Given the description of an element on the screen output the (x, y) to click on. 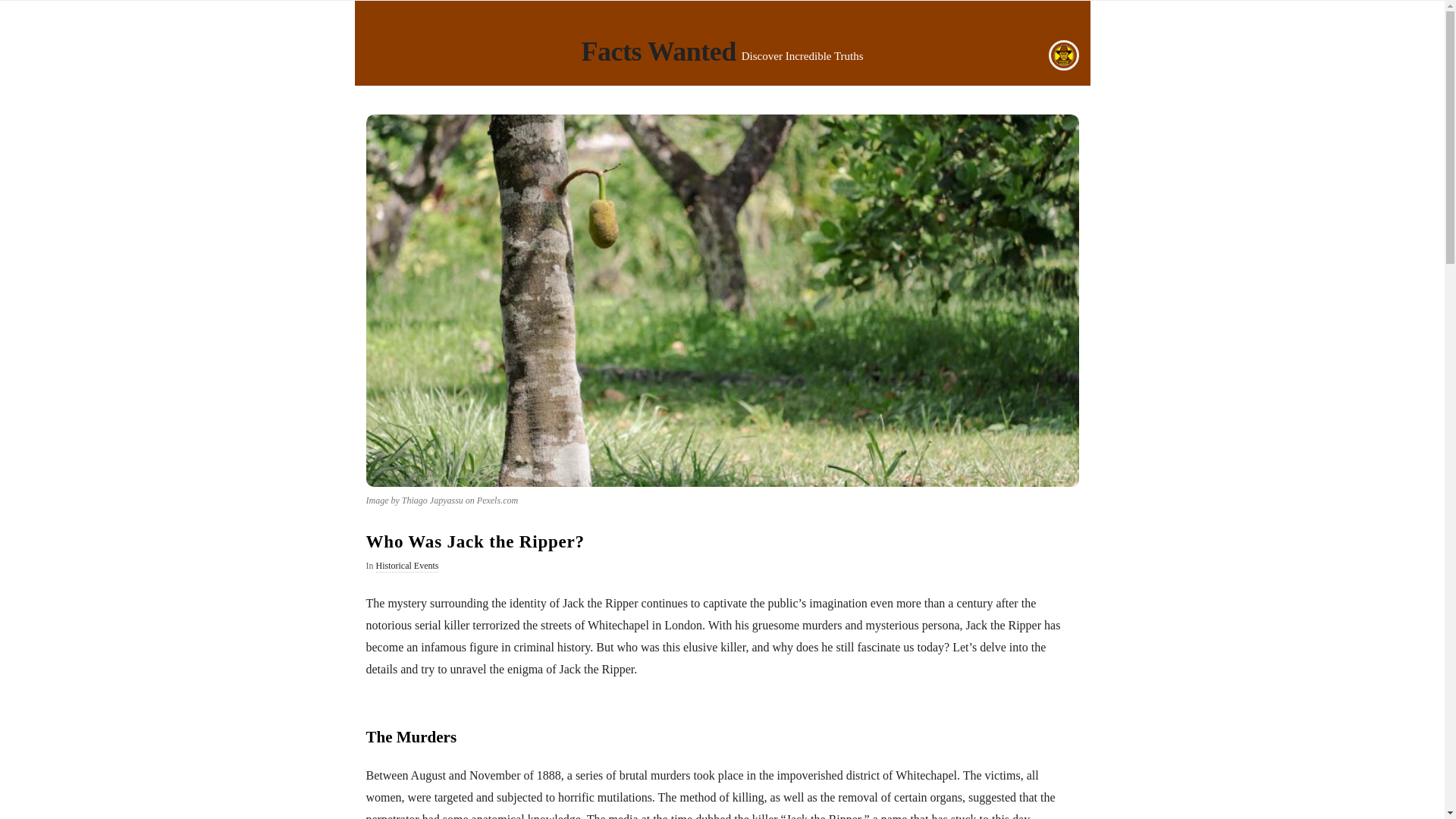
Facts Wanted (657, 55)
Historical Events (407, 566)
Facts Wanted (657, 55)
